Given the description of an element on the screen output the (x, y) to click on. 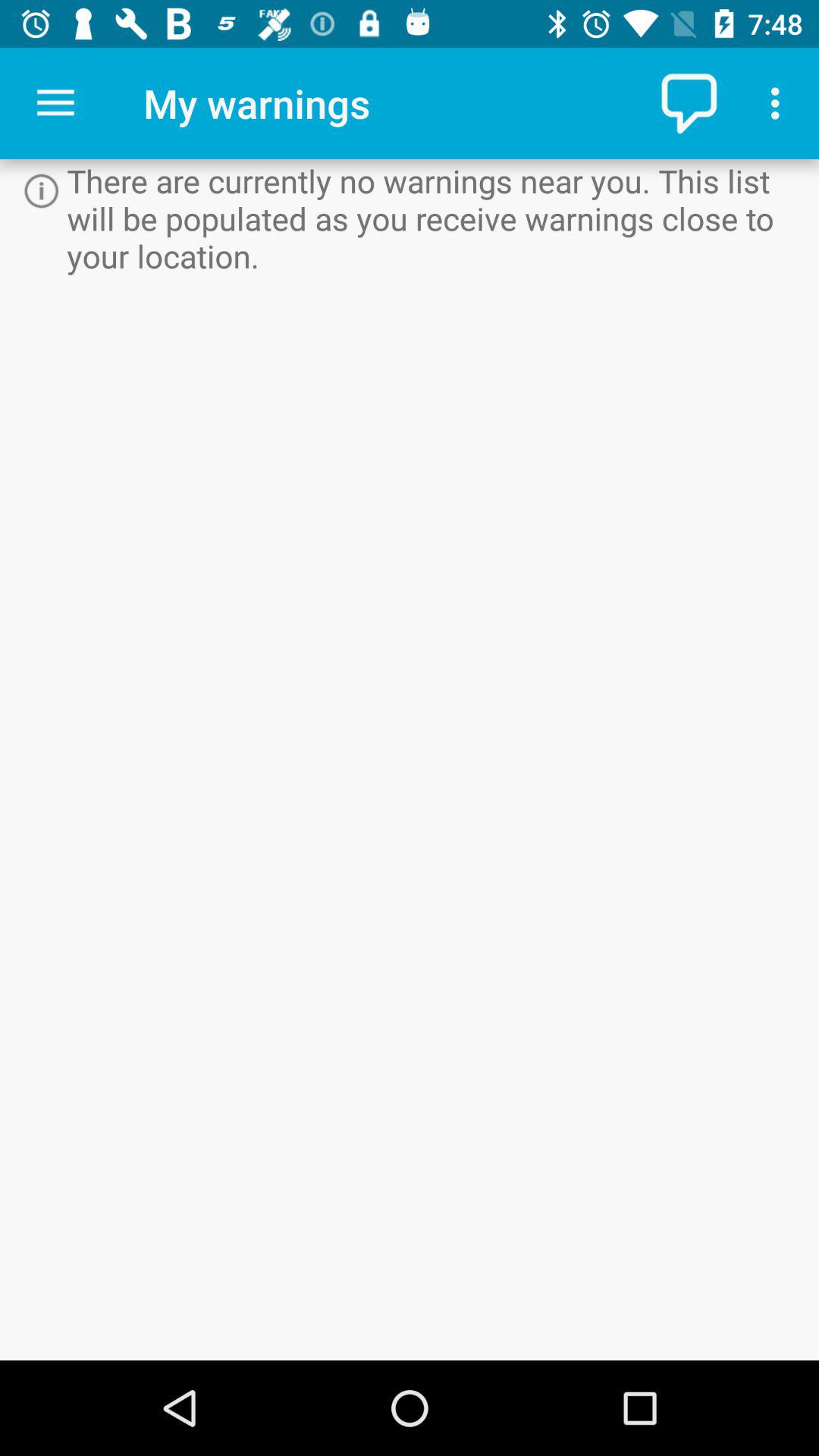
turn off icon to the right of my warnings (691, 103)
